Given the description of an element on the screen output the (x, y) to click on. 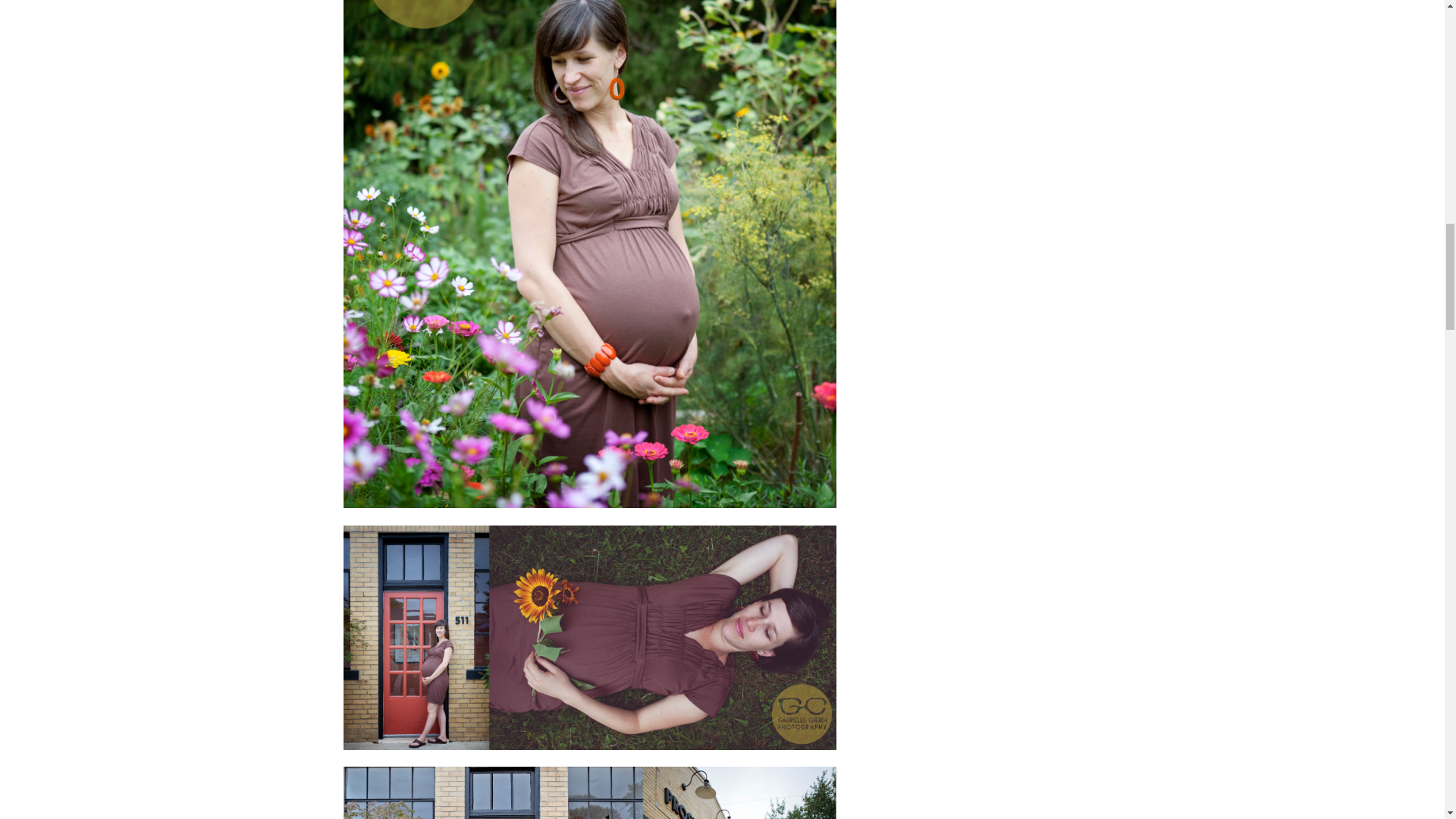
Screen Shot 2012-09-17 at 6.29.15 PM (588, 637)
Screen Shot 2012-09-17 at 6.32.10 PM (588, 792)
